Given the description of an element on the screen output the (x, y) to click on. 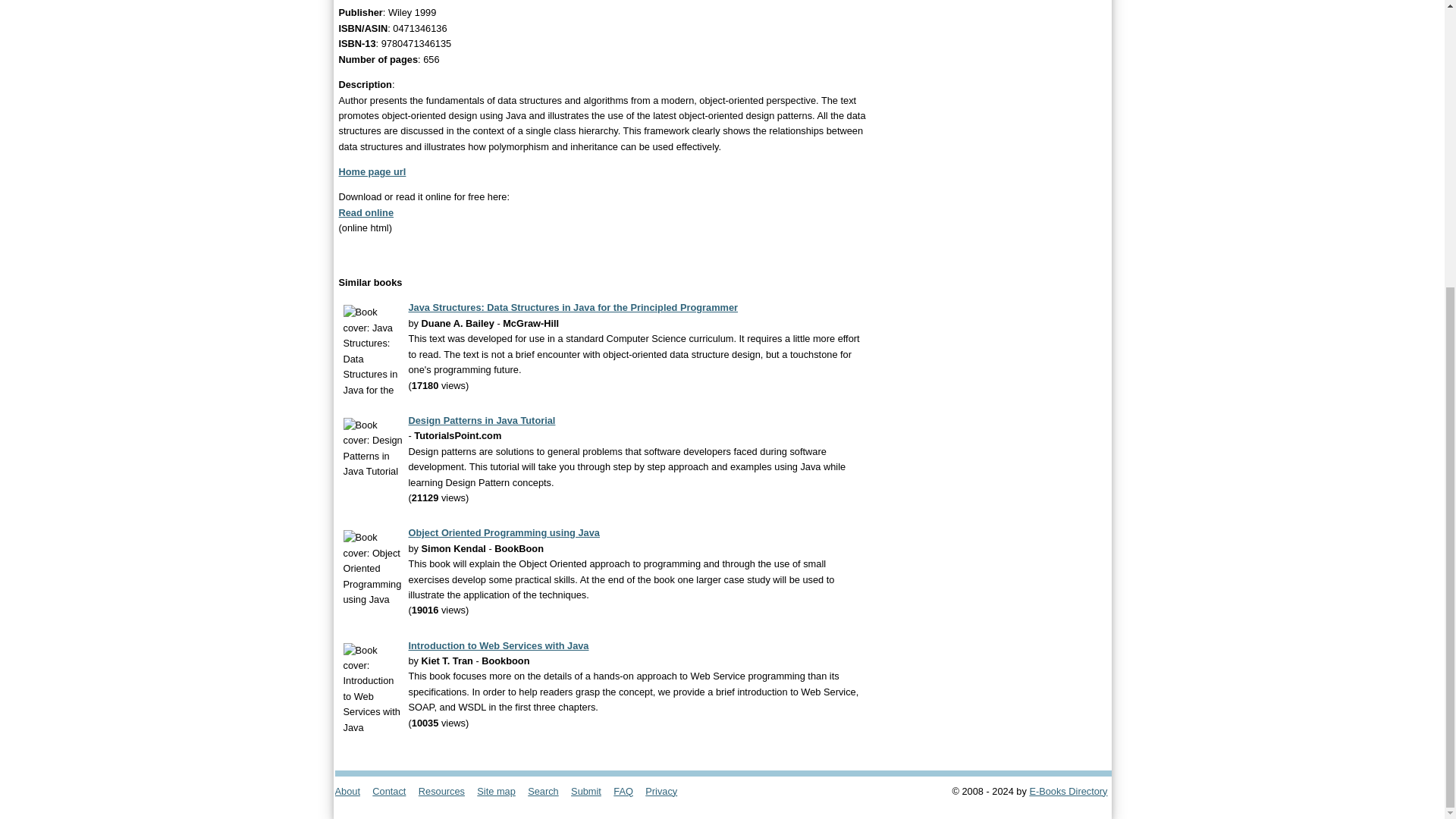
Resources (446, 790)
Object Oriented Programming using Java (502, 532)
FAQ (627, 790)
Site map (500, 790)
Design Patterns in Java Tutorial (480, 419)
Home page url (371, 171)
Search (547, 790)
Contact (393, 790)
Submit (590, 790)
About (351, 790)
Introduction to Web Services with Java (497, 645)
Read online (365, 212)
Privacy (666, 790)
